Given the description of an element on the screen output the (x, y) to click on. 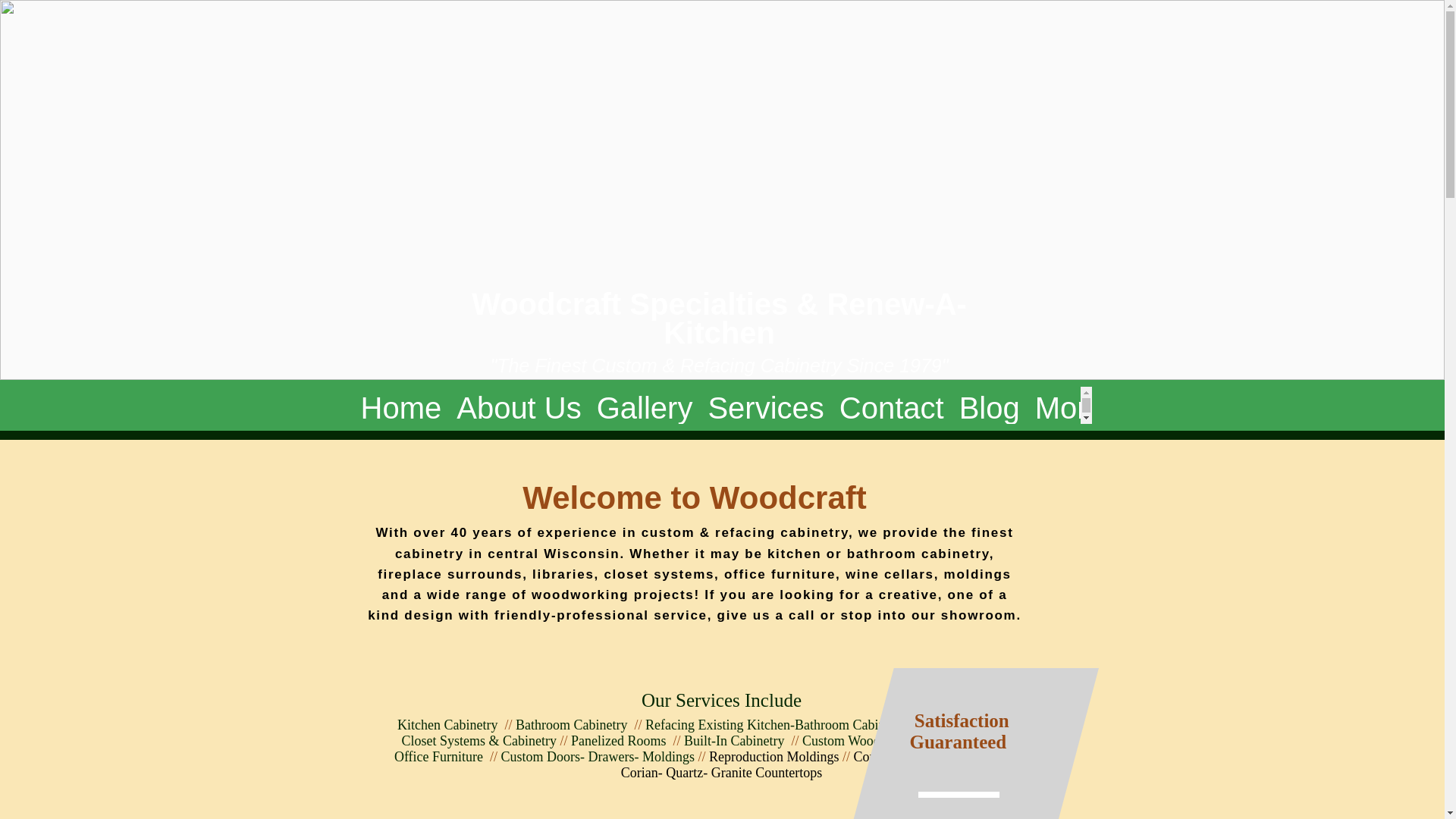
Blog (989, 405)
About Us (518, 405)
Contact (891, 405)
Gallery (644, 405)
Services (765, 405)
Home (401, 405)
